Given the description of an element on the screen output the (x, y) to click on. 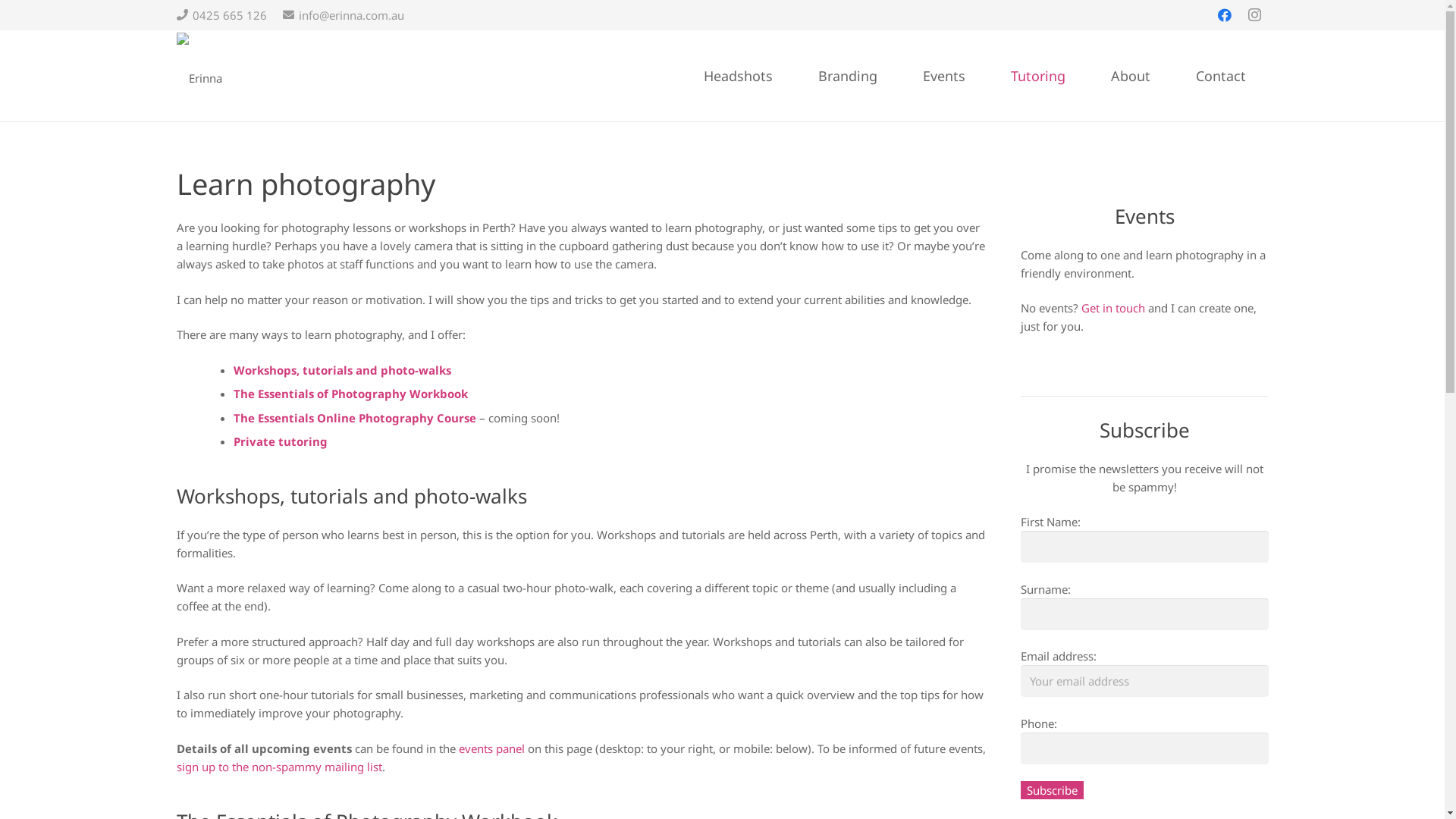
info@erinna.com.au Element type: text (342, 14)
Facebook Element type: hover (1223, 14)
The Essentials of Photography Workbook Element type: text (350, 393)
The Essentials Online Photography Course Element type: text (354, 417)
sign up to the non-spammy mailing list Element type: text (278, 766)
Get in touch Element type: text (1113, 307)
0425 665 126 Element type: text (220, 14)
Contact Element type: text (1219, 75)
Branding Element type: text (846, 75)
Headshots Element type: text (737, 75)
events panel Element type: text (491, 748)
About Element type: text (1129, 75)
Events Element type: text (943, 75)
Instagram Element type: hover (1253, 14)
Tutoring Element type: text (1037, 75)
Workshops, tutorials and photo-walks Element type: text (342, 369)
Subscribe Element type: text (1051, 790)
Private tutoring Element type: text (280, 440)
